Given the description of an element on the screen output the (x, y) to click on. 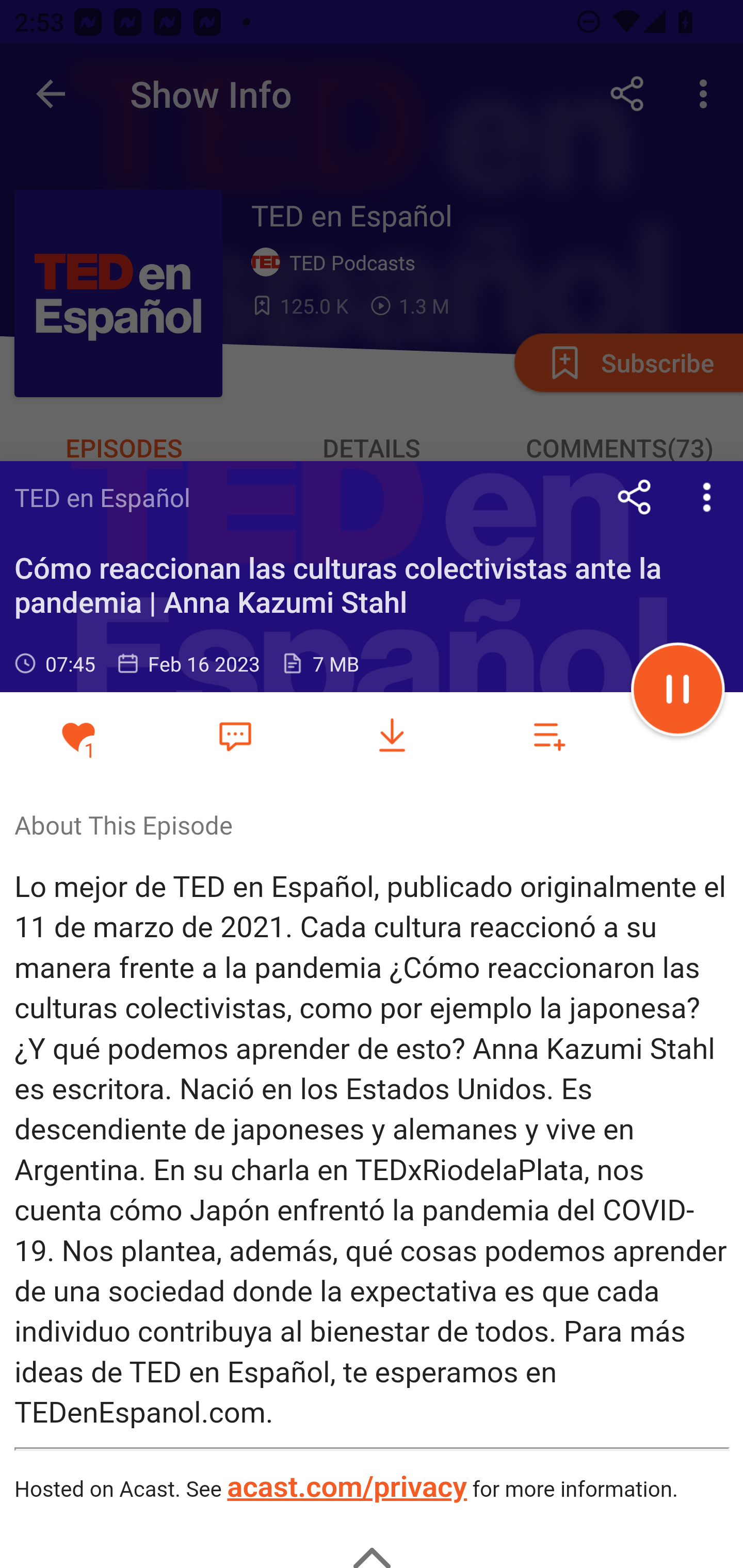
Share (634, 496)
more options (706, 496)
Pause (677, 692)
Favorite (234, 735)
Remove from Favorites (78, 735)
Download (391, 735)
Add to playlist (548, 735)
acast.com/privacy (346, 1488)
